Given the description of an element on the screen output the (x, y) to click on. 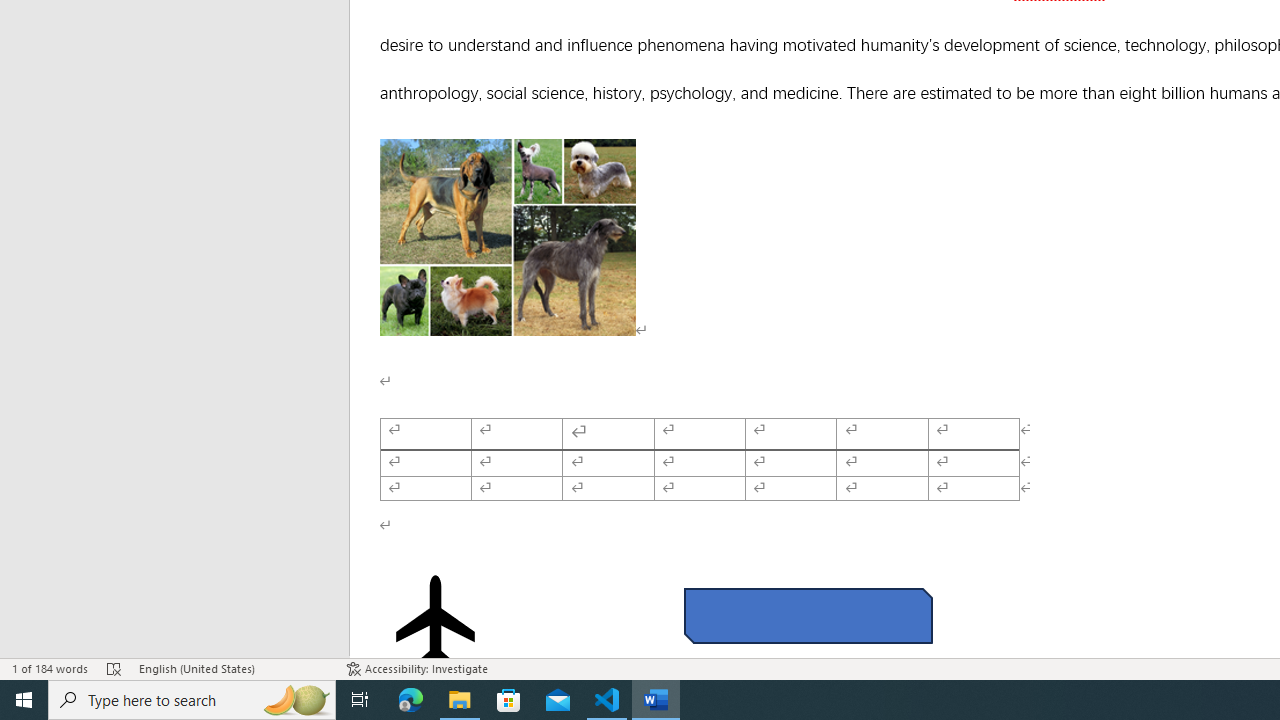
Airplane with solid fill (435, 620)
Microsoft Edge (411, 699)
Word - 1 running window (656, 699)
File Explorer - 1 running window (460, 699)
Morphological variation in six dogs (508, 237)
